Given the description of an element on the screen output the (x, y) to click on. 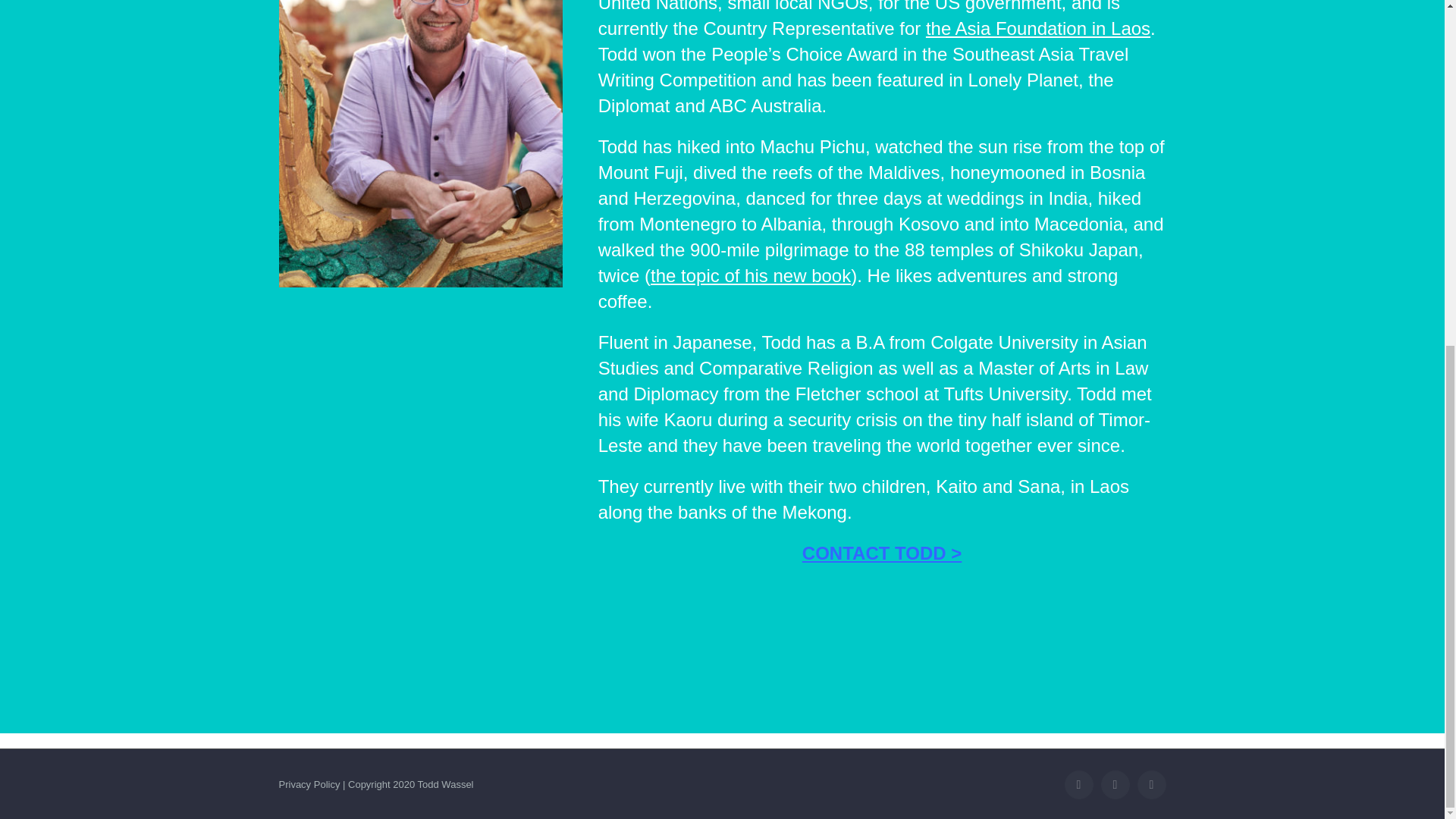
Facebook (1078, 784)
Instagram (1151, 784)
the Asia Foundation in Laos (1038, 28)
Todd Wassel (420, 143)
the topic of his new book (750, 275)
Privacy Policy (309, 784)
Twitter (1114, 784)
